Given the description of an element on the screen output the (x, y) to click on. 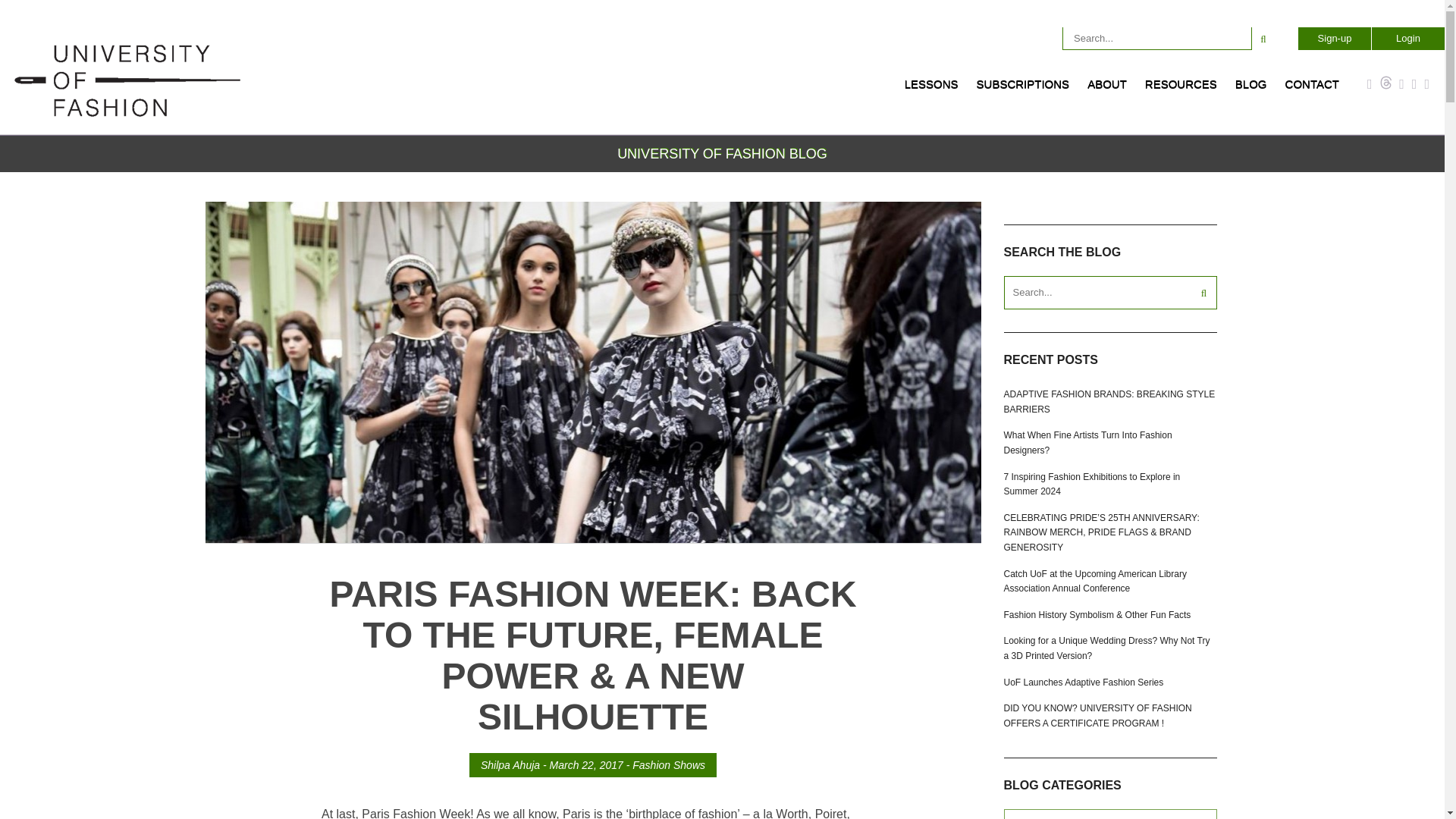
University of Fashion Blog (127, 113)
RESOURCES (1180, 89)
LESSONS (931, 89)
Login (1407, 38)
Posts by Shilpa Ahuja (510, 765)
Sign-up (1334, 38)
ABOUT (1106, 89)
SUBSCRIPTIONS (1023, 89)
Search for: (1157, 38)
